Given the description of an element on the screen output the (x, y) to click on. 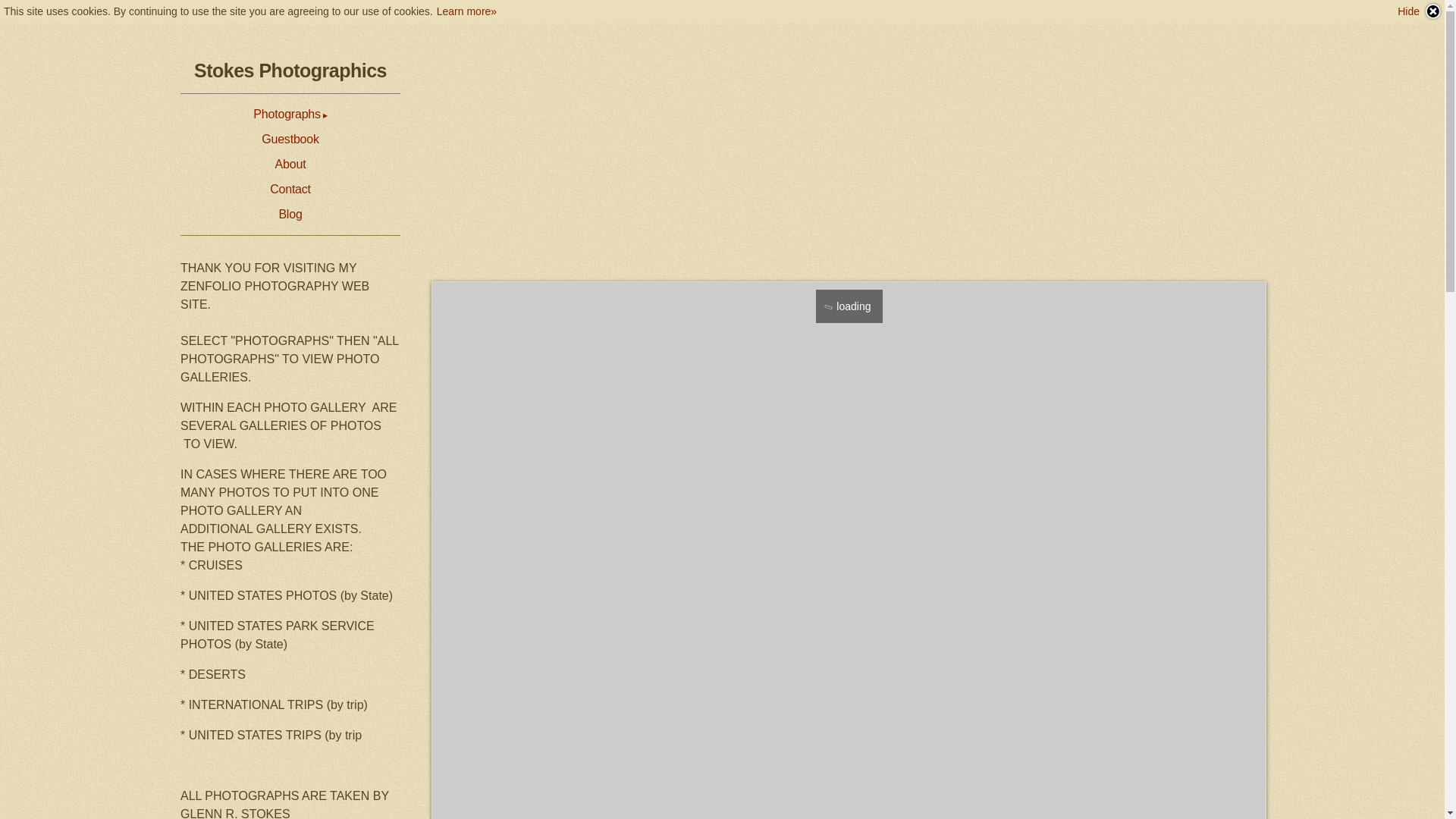
Hide (1419, 11)
Guestbook (290, 138)
Contact (290, 189)
Blog (290, 214)
About (290, 164)
